Given the description of an element on the screen output the (x, y) to click on. 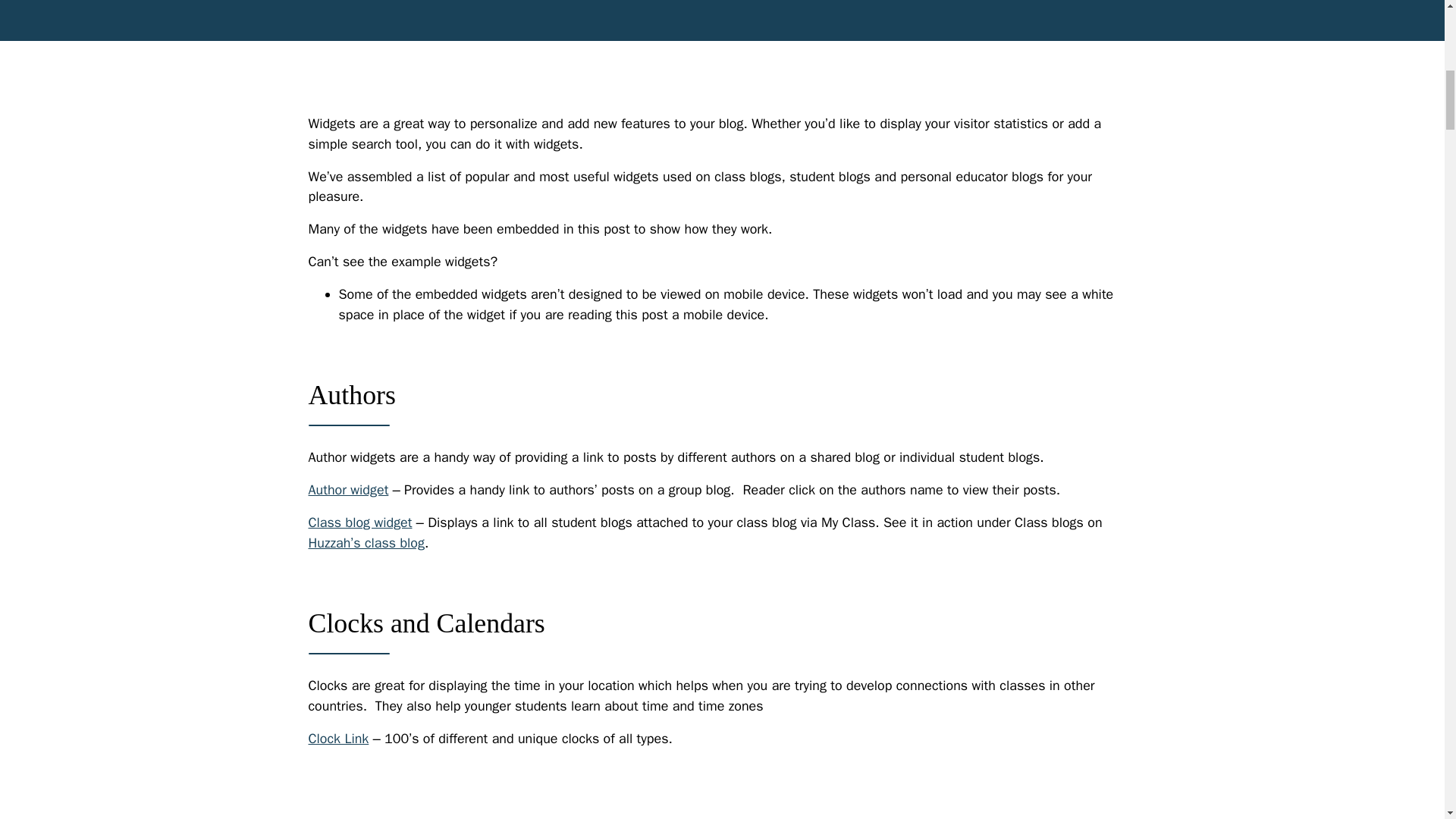
Author widget (347, 489)
Clock Link (337, 737)
Class blog widget (359, 522)
